Given the description of an element on the screen output the (x, y) to click on. 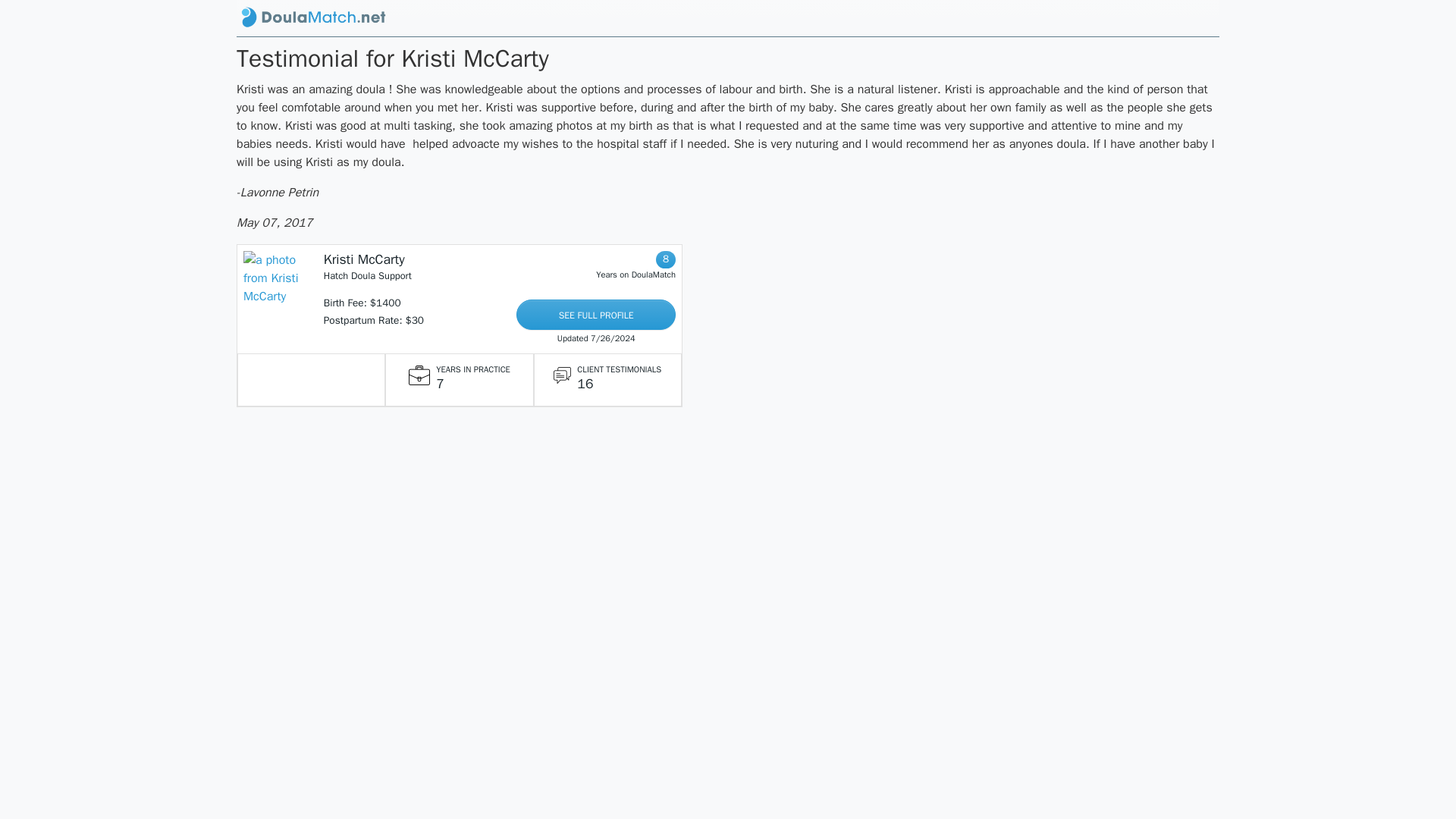
SEE FULL PROFILE (595, 314)
Kristi McCarty (363, 258)
